Given the description of an element on the screen output the (x, y) to click on. 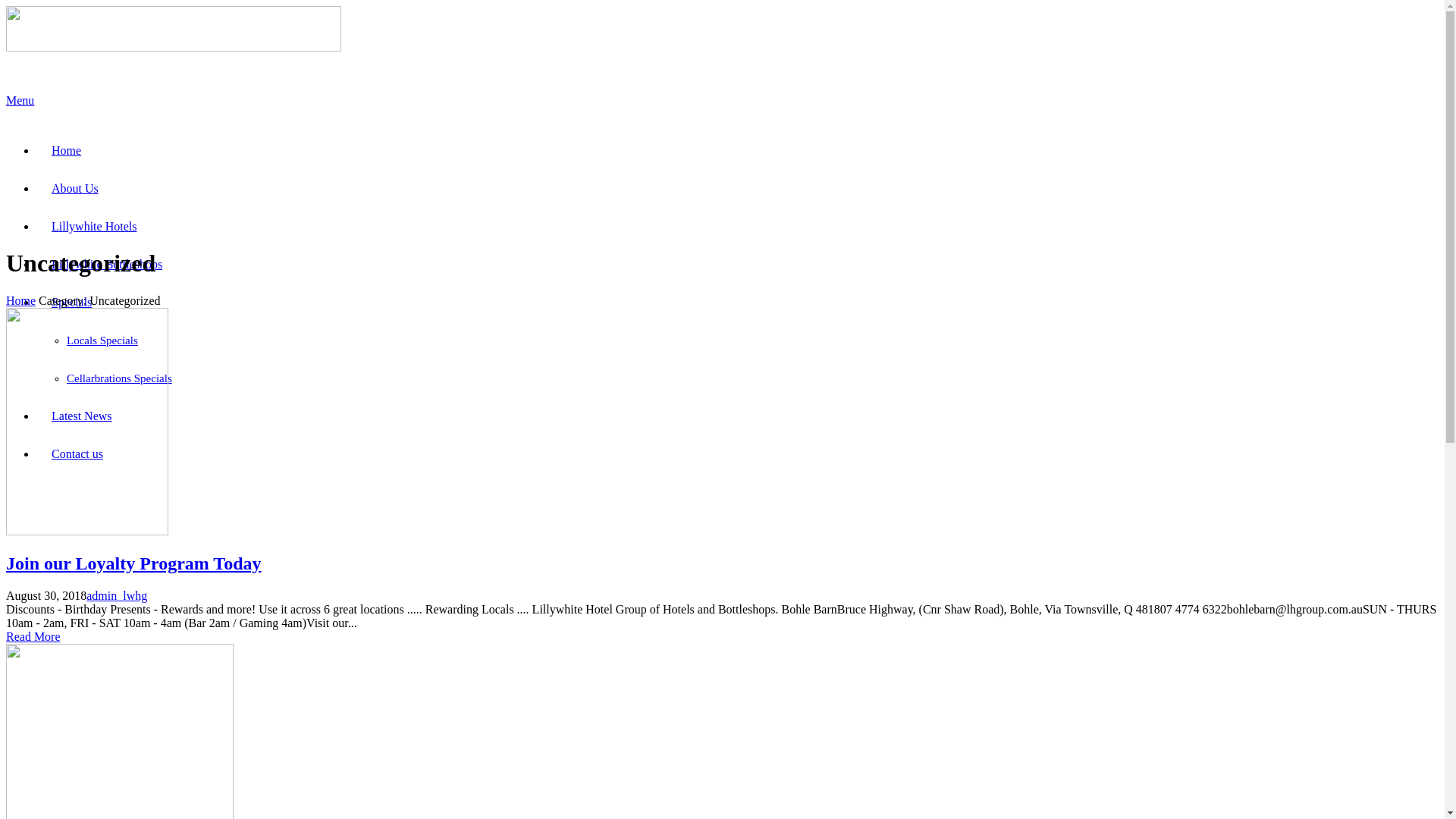
Cellarbrations Specials Element type: text (119, 378)
Menu Element type: text (722, 106)
Lillywhite Bottleshops Element type: text (106, 263)
admin_lwhg Element type: text (116, 595)
Join our Loyalty Program Today Element type: text (133, 563)
Home Element type: text (66, 150)
Home Element type: text (20, 300)
Lillywhite Hotels Element type: text (93, 225)
About Us Element type: text (74, 188)
Specials Element type: text (71, 301)
Contact us Element type: text (77, 453)
Read More Element type: text (33, 636)
Locals Specials Element type: text (102, 340)
Latest News Element type: text (81, 415)
